Given the description of an element on the screen output the (x, y) to click on. 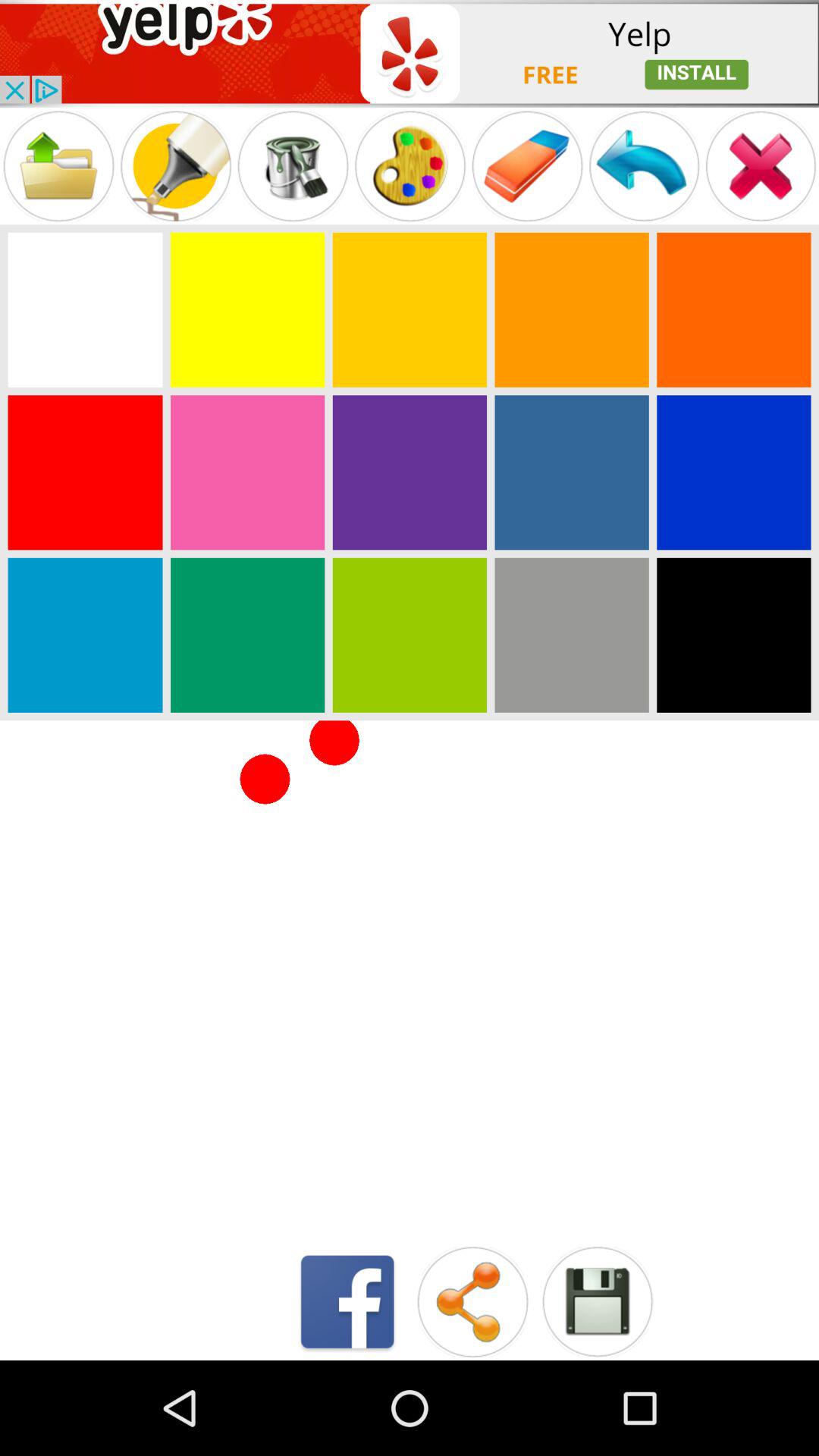
upload the file open the file (58, 165)
